Given the description of an element on the screen output the (x, y) to click on. 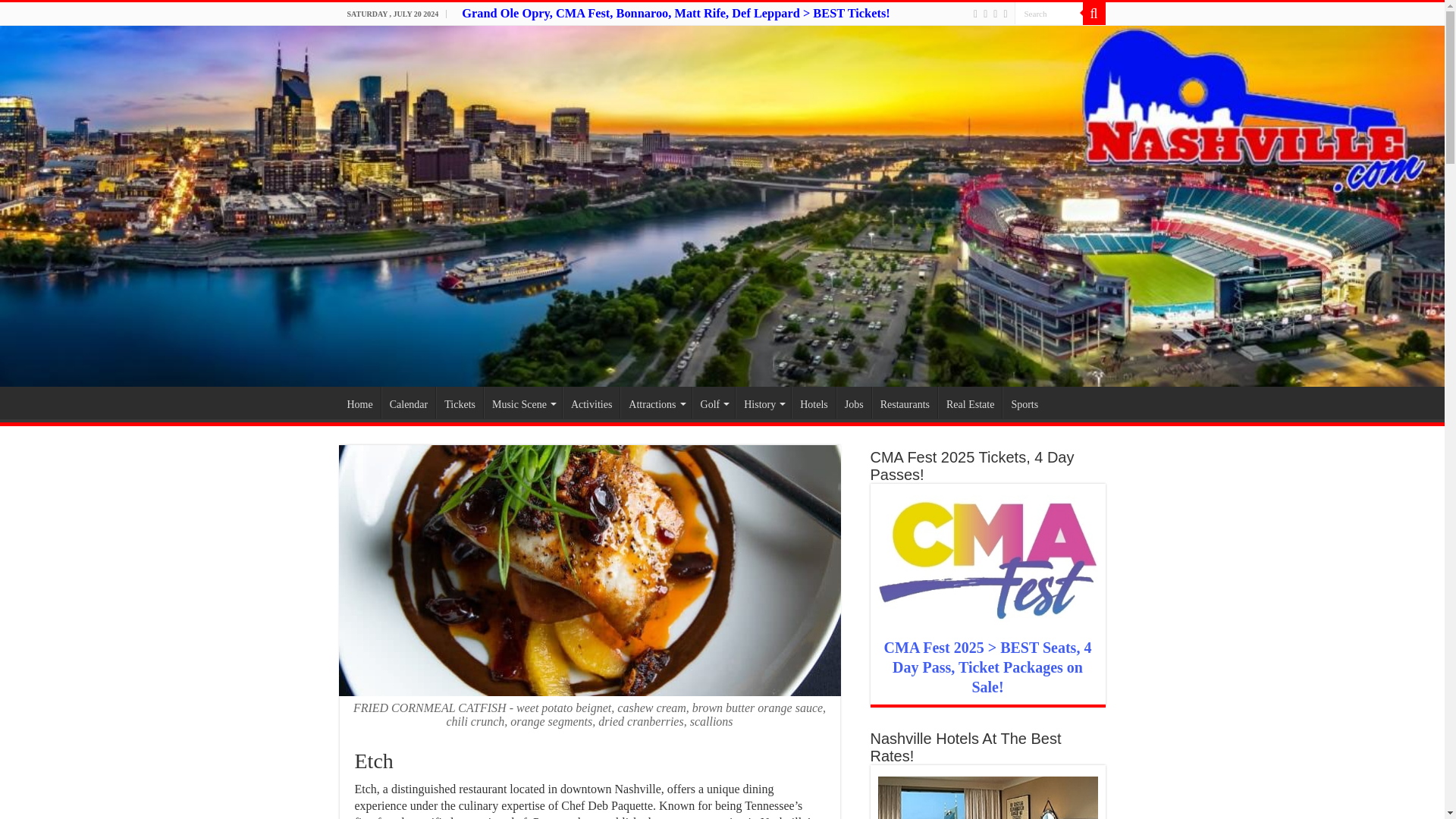
Search (1048, 13)
Search (1048, 13)
Search (1048, 13)
